Given the description of an element on the screen output the (x, y) to click on. 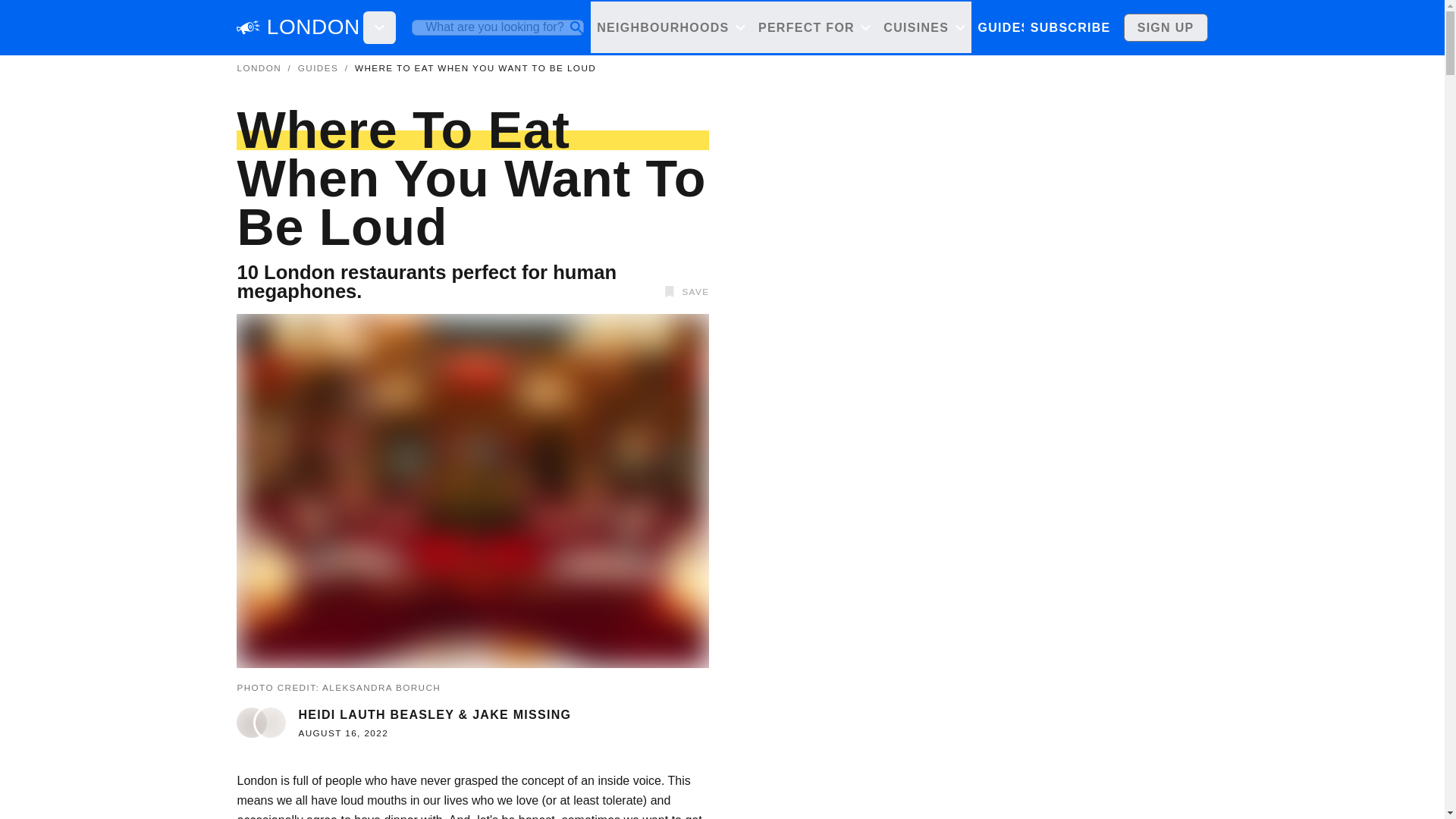
CUISINES (924, 27)
LONDON (258, 67)
LONDON (312, 26)
REVIEWS (1074, 27)
SAVE (684, 291)
What are you looking for? (497, 27)
SUBSCRIBE (1069, 27)
PERFECT FOR (813, 27)
GUIDES (1003, 27)
GUIDES (317, 67)
SIGN UP (1166, 27)
NEIGHBOURHOODS (671, 27)
